Given the description of an element on the screen output the (x, y) to click on. 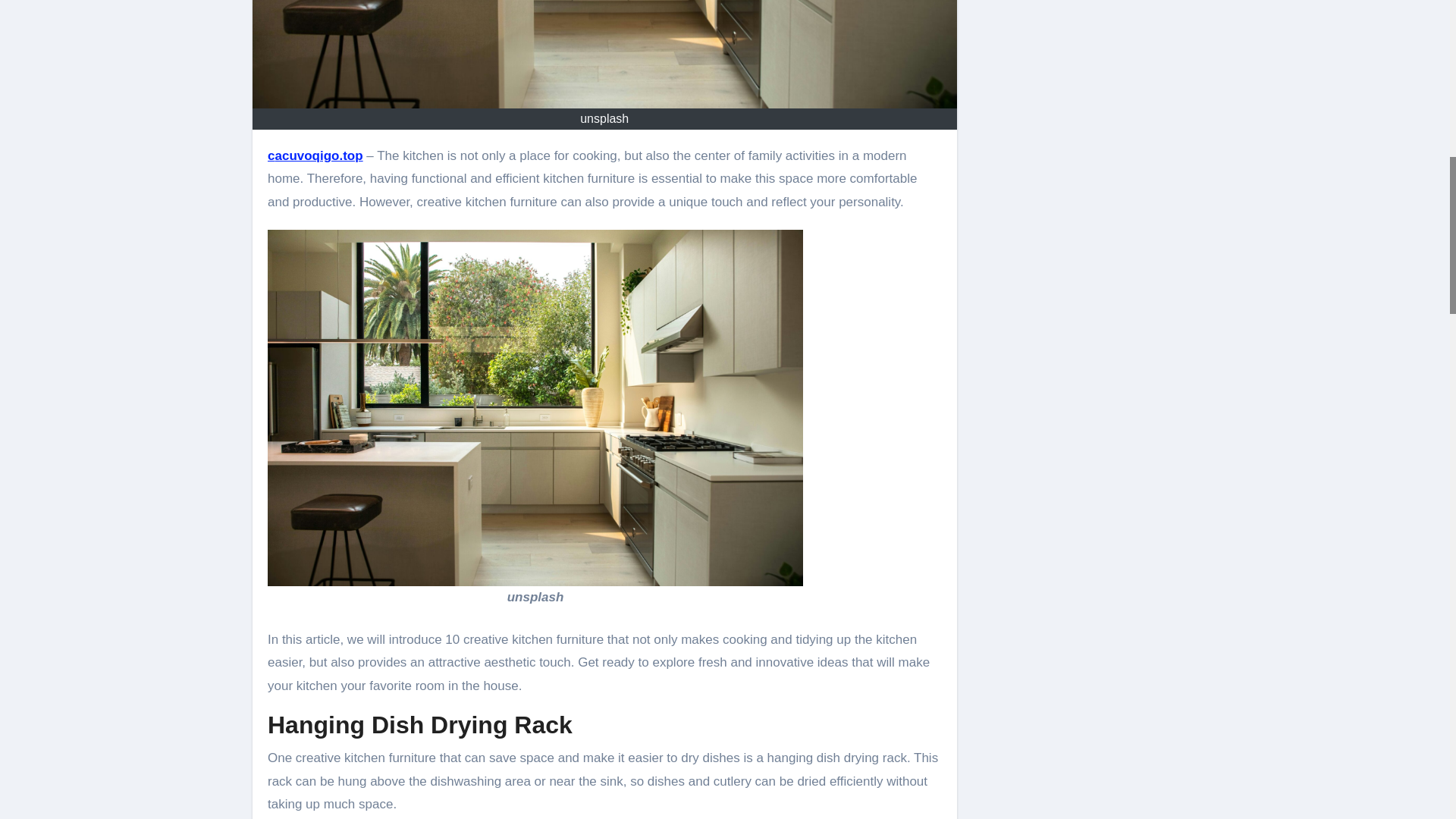
cacuvoqigo.top (314, 155)
